Given the description of an element on the screen output the (x, y) to click on. 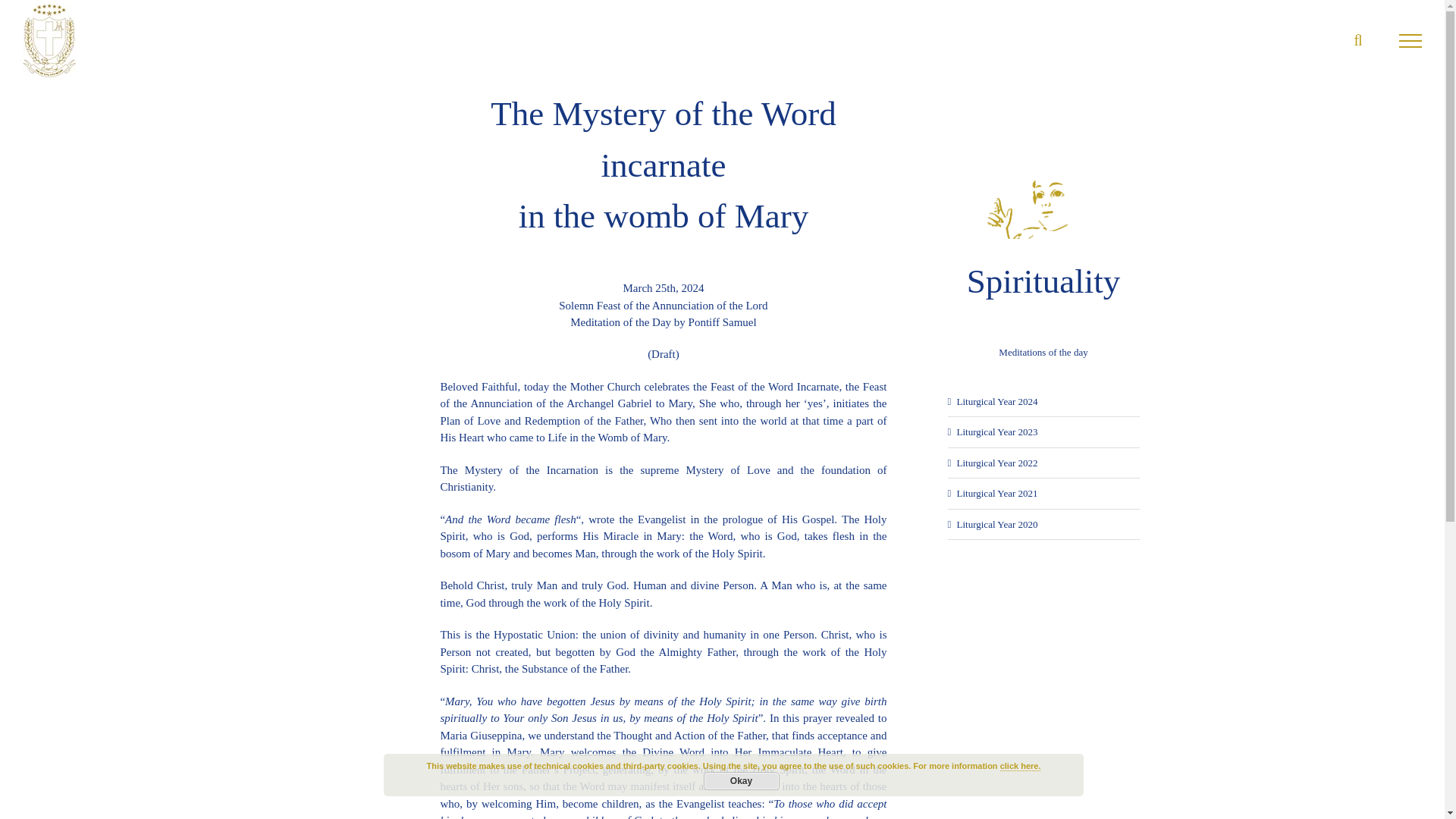
Liturgical Year 2023 (997, 431)
Okay (740, 781)
Liturgical Year 2020 (997, 523)
Liturgical Year 2022 (997, 462)
Spirituality (1043, 226)
click here. (1020, 766)
Liturgical Year 2024 (997, 401)
Liturgical Year 2021 (997, 492)
